Given the description of an element on the screen output the (x, y) to click on. 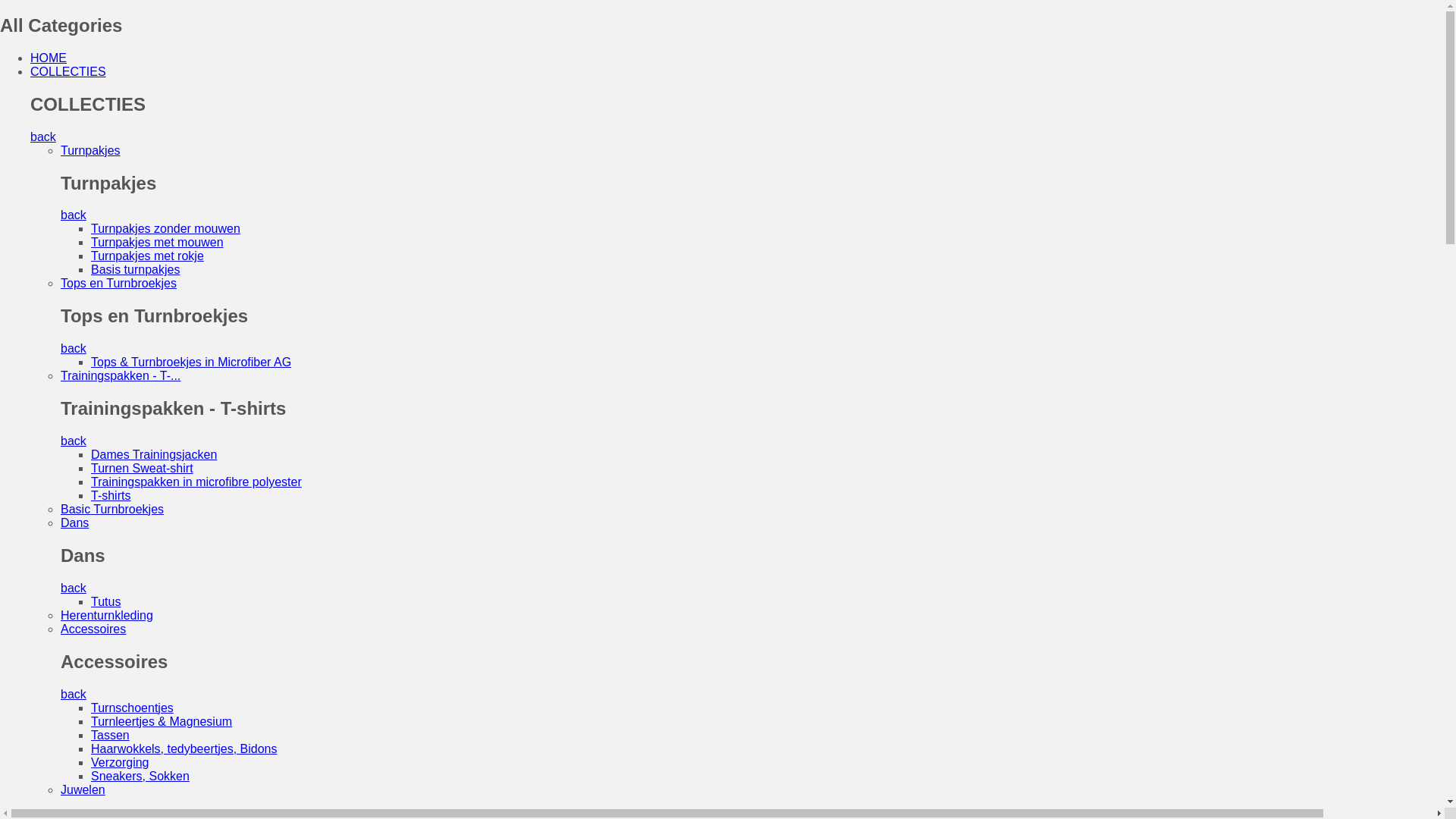
back Element type: text (73, 693)
Turnpakjes Element type: text (90, 150)
back Element type: text (73, 214)
Tops en Turnbroekjes Element type: text (118, 282)
Verzorging Element type: text (120, 762)
Sneakers, Sokken Element type: text (140, 775)
Tops & Turnbroekjes in Microfiber AG Element type: text (191, 361)
COLLECTIES Element type: text (68, 71)
Turnpakjes met rokje Element type: text (147, 255)
Basis turnpakjes Element type: text (135, 269)
T-shirts Element type: text (110, 495)
Basic Turnbroekjes Element type: text (111, 508)
Dans Element type: text (74, 522)
Turnpakjes met mouwen Element type: text (157, 241)
Accessoires Element type: text (92, 628)
Tassen Element type: text (110, 734)
back Element type: text (73, 587)
Trainingspakken in microfibre polyester Element type: text (196, 481)
Turnen Sweat-shirt Element type: text (142, 467)
HOME Element type: text (48, 57)
Trainingspakken - T-... Element type: text (120, 375)
back Element type: text (43, 136)
Juwelen Element type: text (82, 789)
Turnschoentjes Element type: text (132, 707)
Haarwokkels, tedybeertjes, Bidons Element type: text (183, 748)
back Element type: text (73, 348)
back Element type: text (73, 440)
Turnleertjes & Magnesium Element type: text (161, 721)
Tutus Element type: text (105, 601)
Herenturnkleding Element type: text (106, 614)
Turnpakjes zonder mouwen Element type: text (165, 228)
Dames Trainingsjacken Element type: text (153, 454)
